Given the description of an element on the screen output the (x, y) to click on. 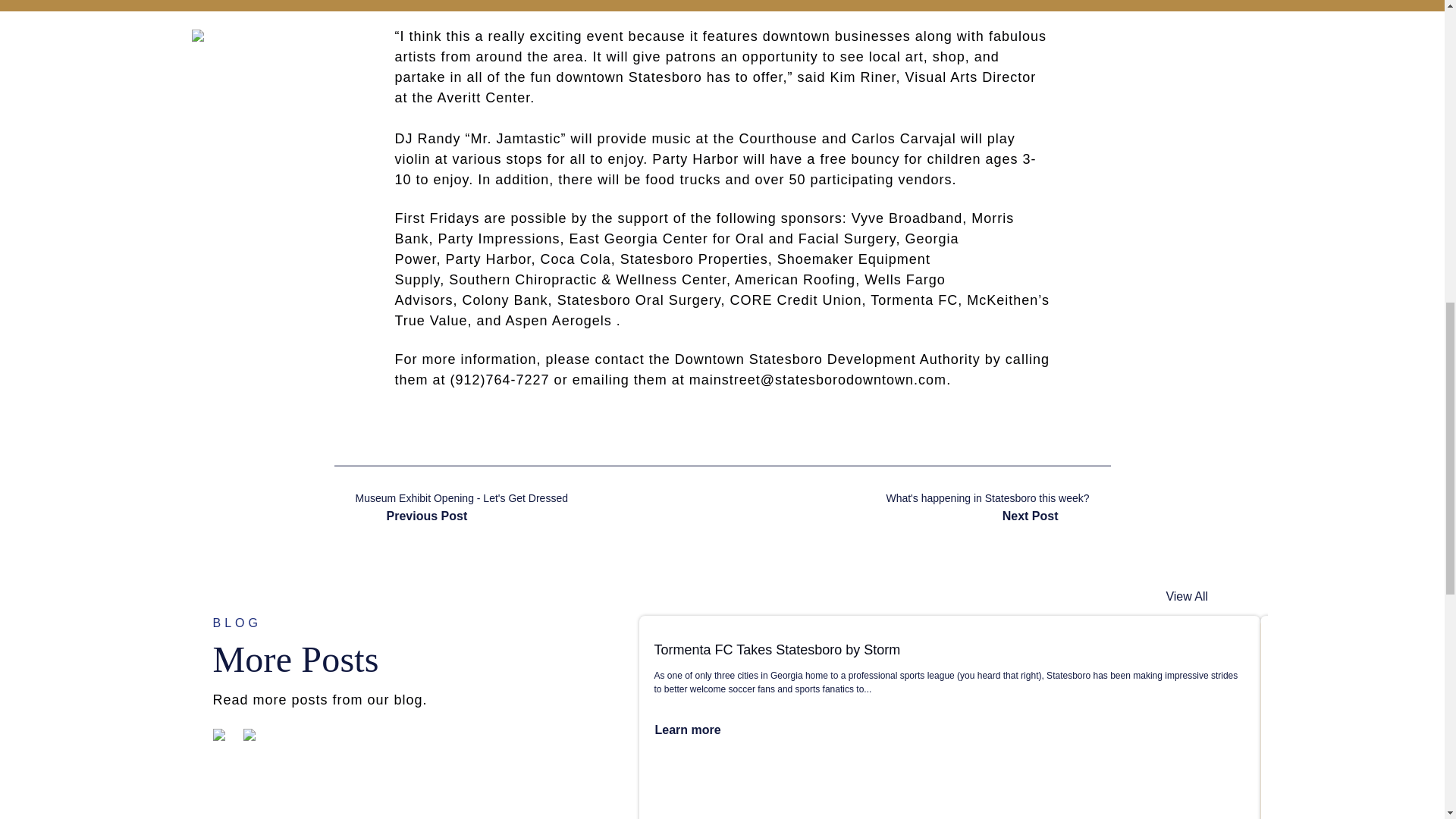
Statesboro Properties (694, 258)
East Georgia Center for Oral and Facial Surgery (732, 238)
Shoemaker Equipment Supply (662, 269)
Party Impressions (499, 238)
Vyve Broadband (906, 218)
Wells Fargo Advisors (669, 289)
Statesboro Oral Surgery (638, 299)
American Roofing (795, 279)
Colony Bank (505, 299)
Georgia Power (676, 248)
